Given the description of an element on the screen output the (x, y) to click on. 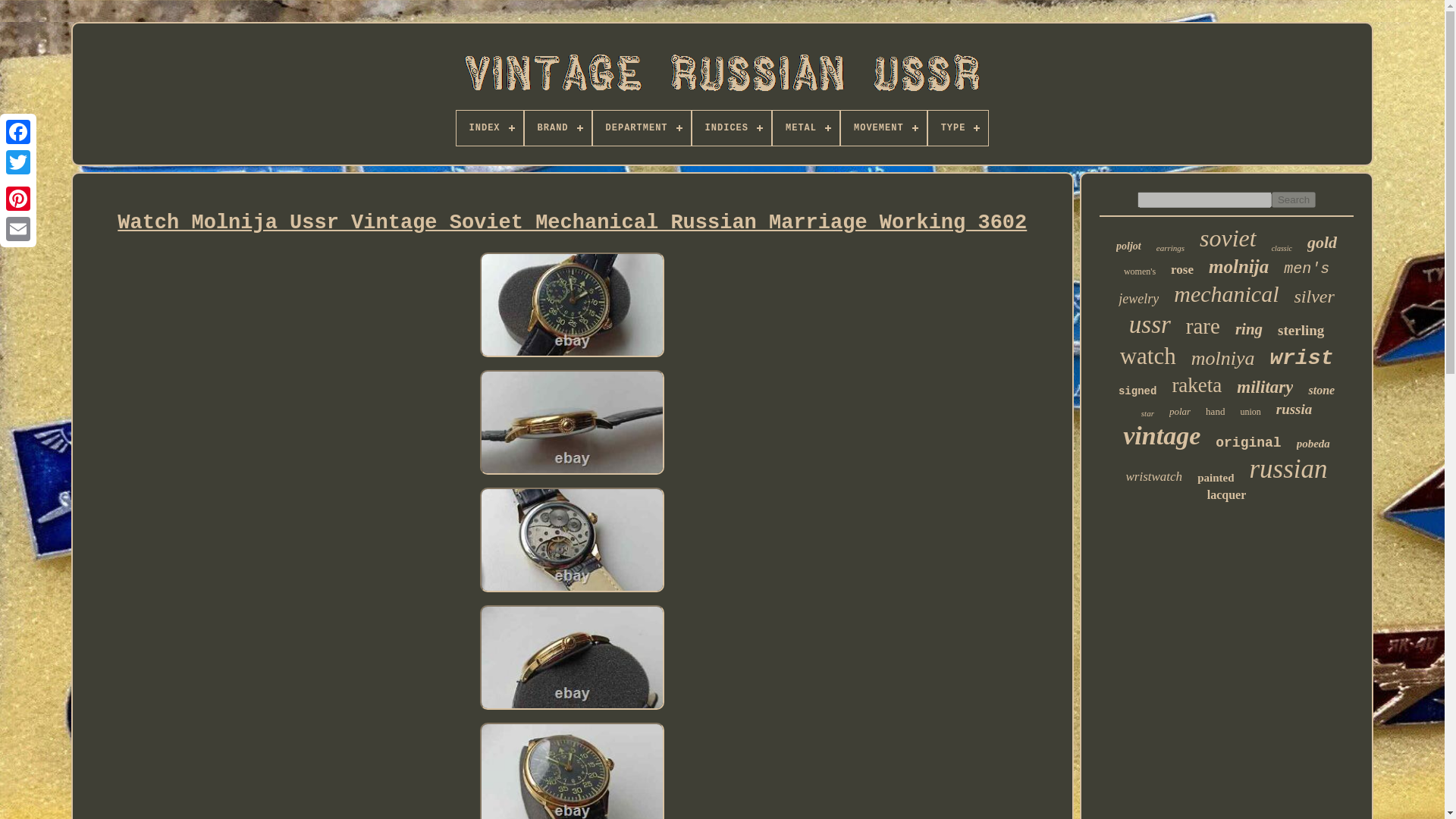
Search (1293, 199)
INDEX (489, 127)
BRAND (557, 127)
DEPARTMENT (641, 127)
